Given the description of an element on the screen output the (x, y) to click on. 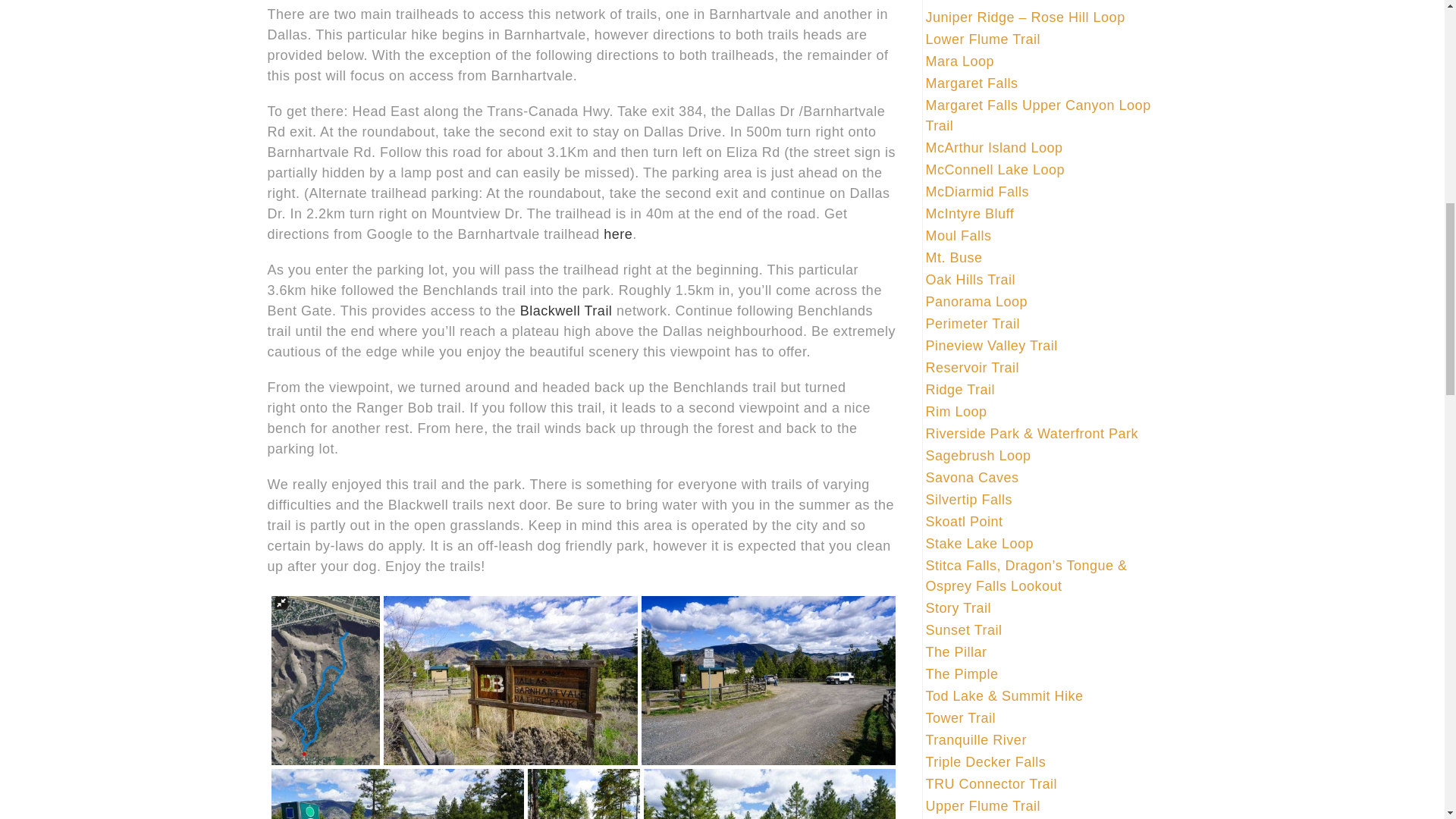
DSC00530-2 (583, 794)
DSC00533-2 (769, 794)
DSC00524-2 (768, 679)
DSC00523-2 (510, 679)
DSC00526-2 (397, 794)
